Given the description of an element on the screen output the (x, y) to click on. 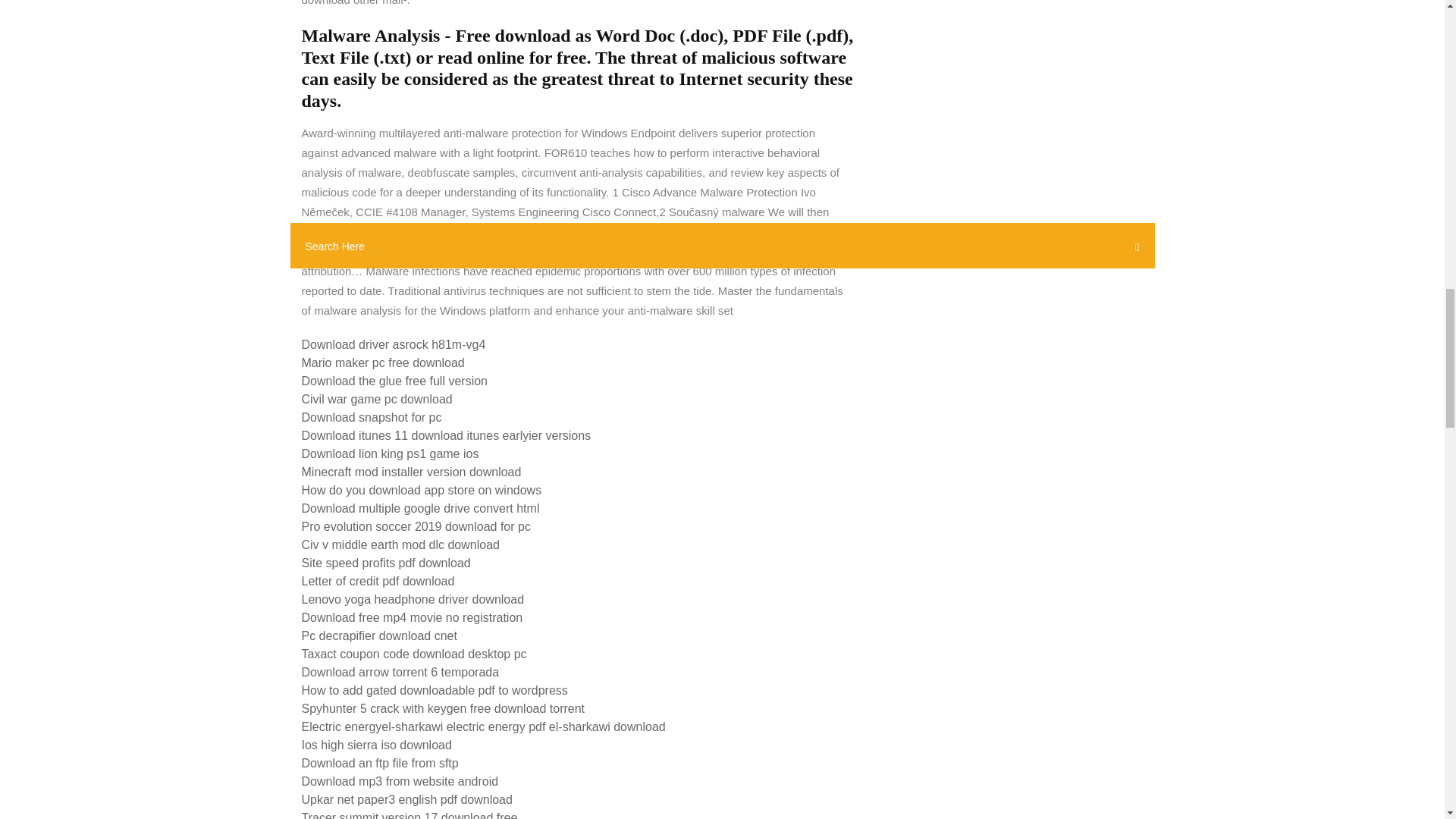
Mario maker pc free download (382, 362)
Minecraft mod installer version download (411, 472)
Download arrow torrent 6 temporada (400, 671)
Lenovo yoga headphone driver download (412, 599)
Download snapshot for pc (371, 417)
How to add gated downloadable pdf to wordpress (434, 689)
Site speed profits pdf download (385, 562)
Ios high sierra iso download (376, 744)
Download lion king ps1 game ios (390, 453)
